Given the description of an element on the screen output the (x, y) to click on. 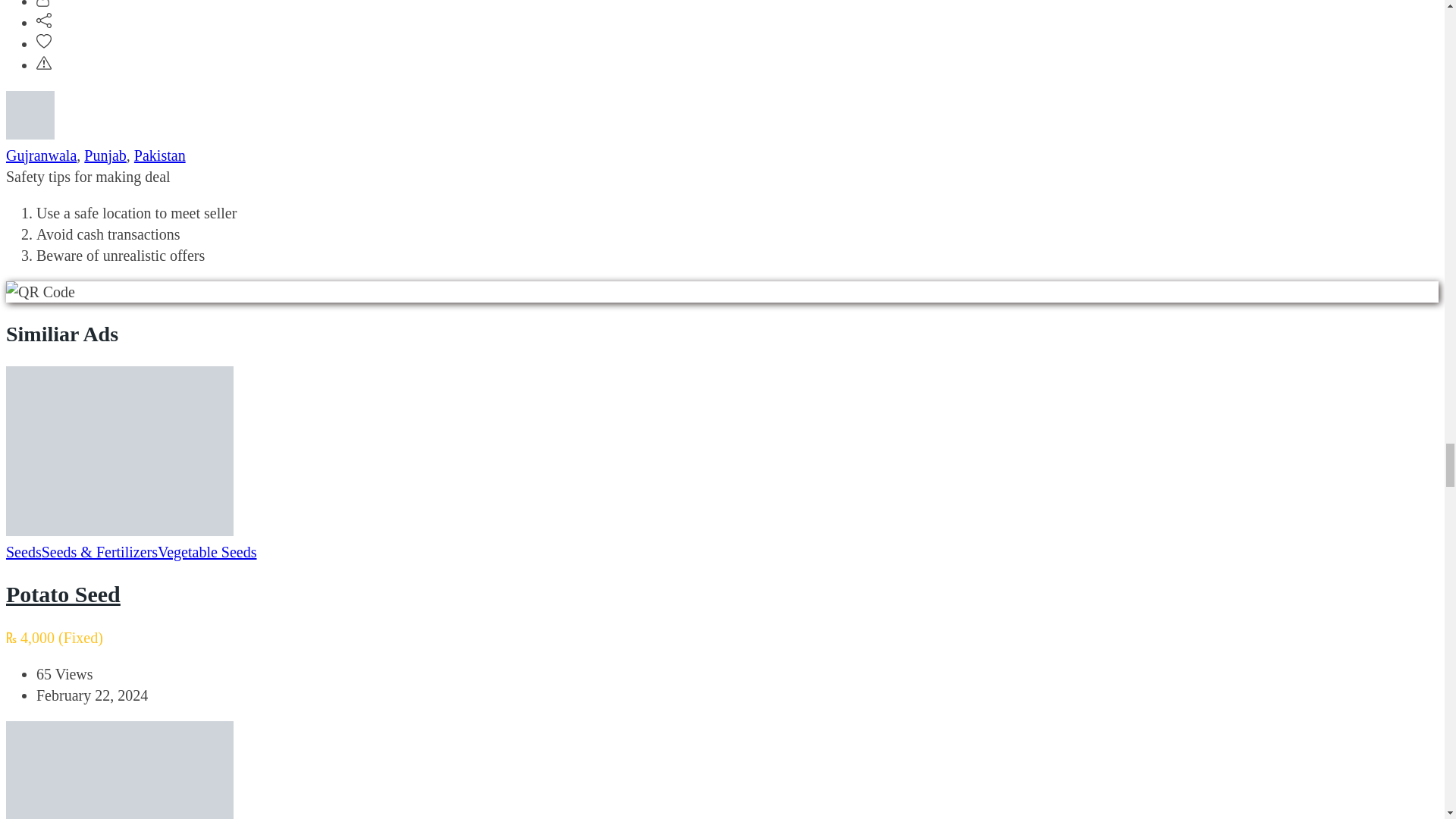
Potato Seed (62, 593)
